Given the description of an element on the screen output the (x, y) to click on. 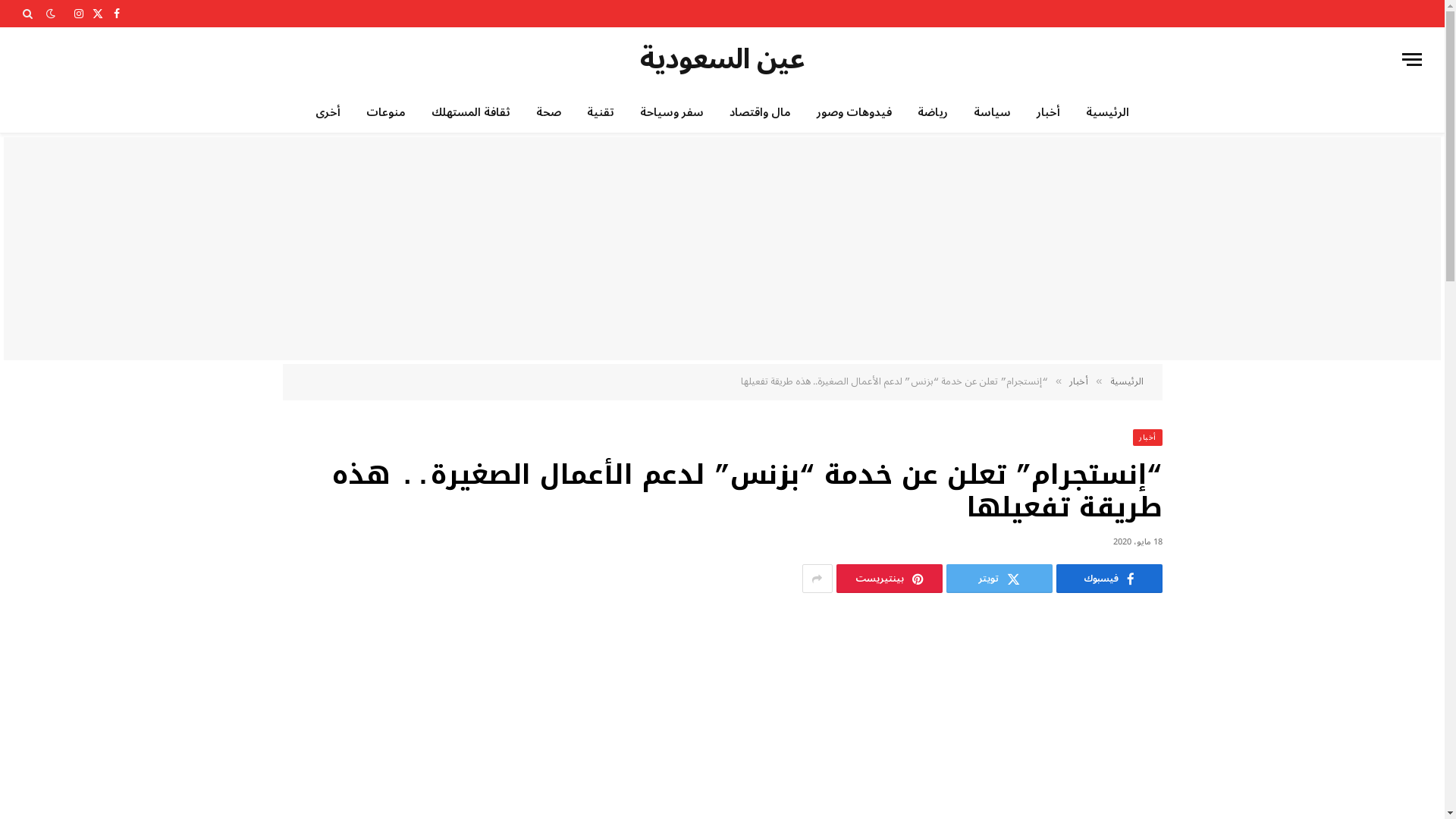
X (Twitter) Element type: text (97, 13)
Advertisement Element type: hover (721, 248)
Show More Social Sharing Element type: hover (817, 578)
